Given the description of an element on the screen output the (x, y) to click on. 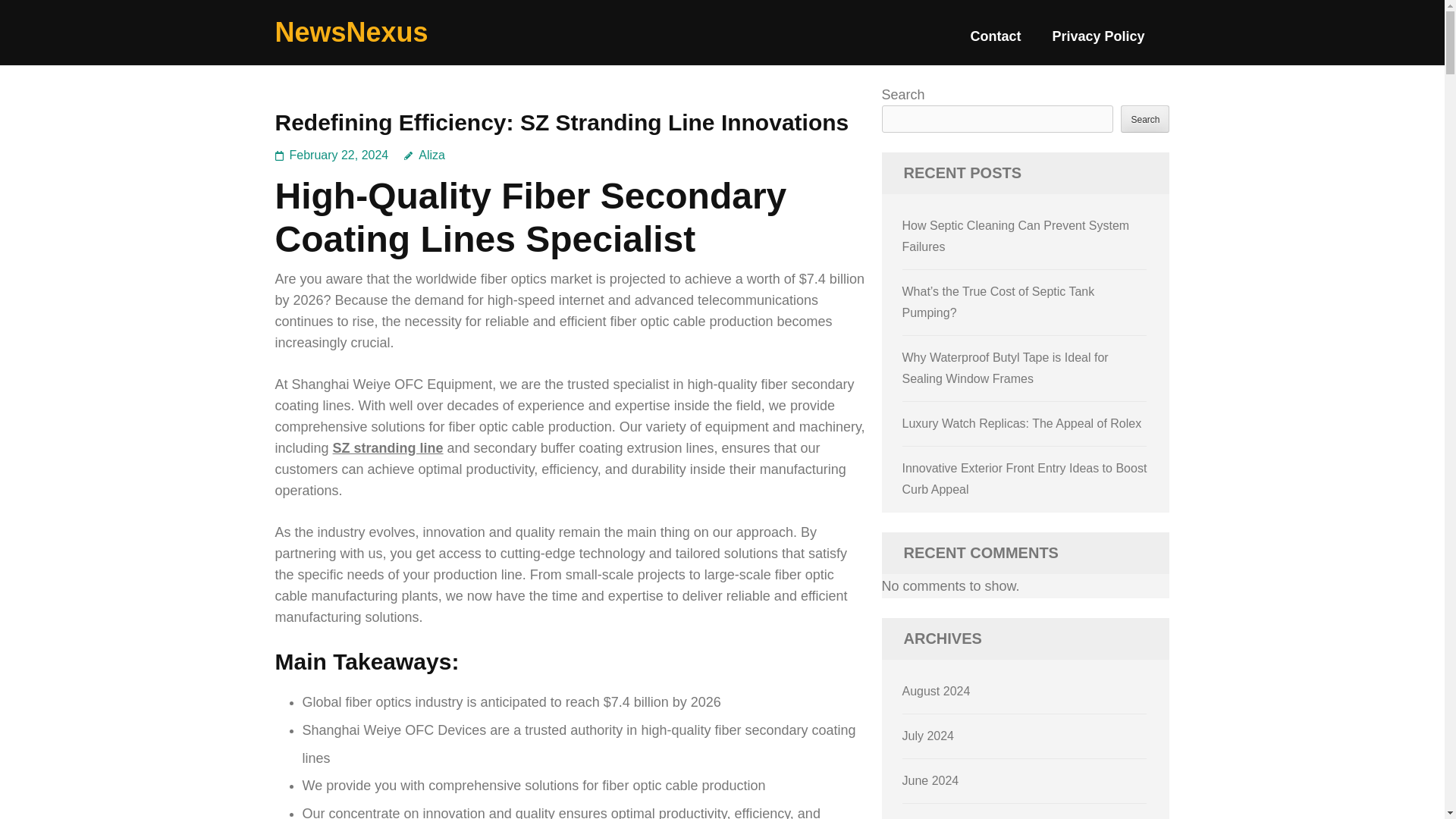
Why Waterproof Butyl Tape is Ideal for Sealing Window Frames (1005, 367)
Contact (994, 42)
June 2024 (930, 780)
SZ stranding line (388, 447)
How Septic Cleaning Can Prevent System Failures (1015, 236)
Luxury Watch Replicas: The Appeal of Rolex (1021, 422)
Aliza (424, 154)
Innovative Exterior Front Entry Ideas to Boost Curb Appeal (1024, 478)
July 2024 (928, 735)
August 2024 (936, 690)
